Given the description of an element on the screen output the (x, y) to click on. 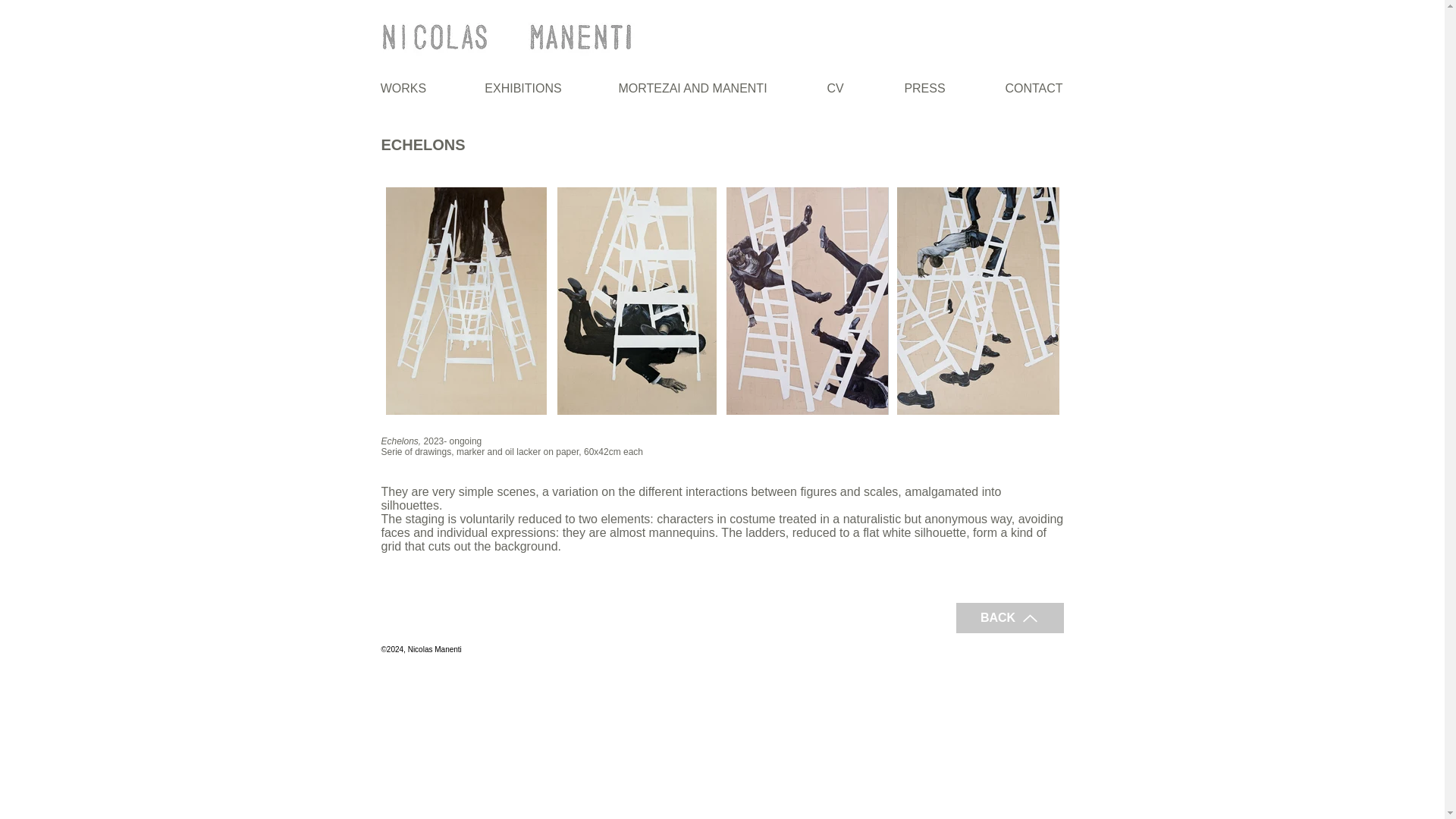
CV (834, 88)
CONTACT (1033, 88)
BACK (1008, 617)
